Given the description of an element on the screen output the (x, y) to click on. 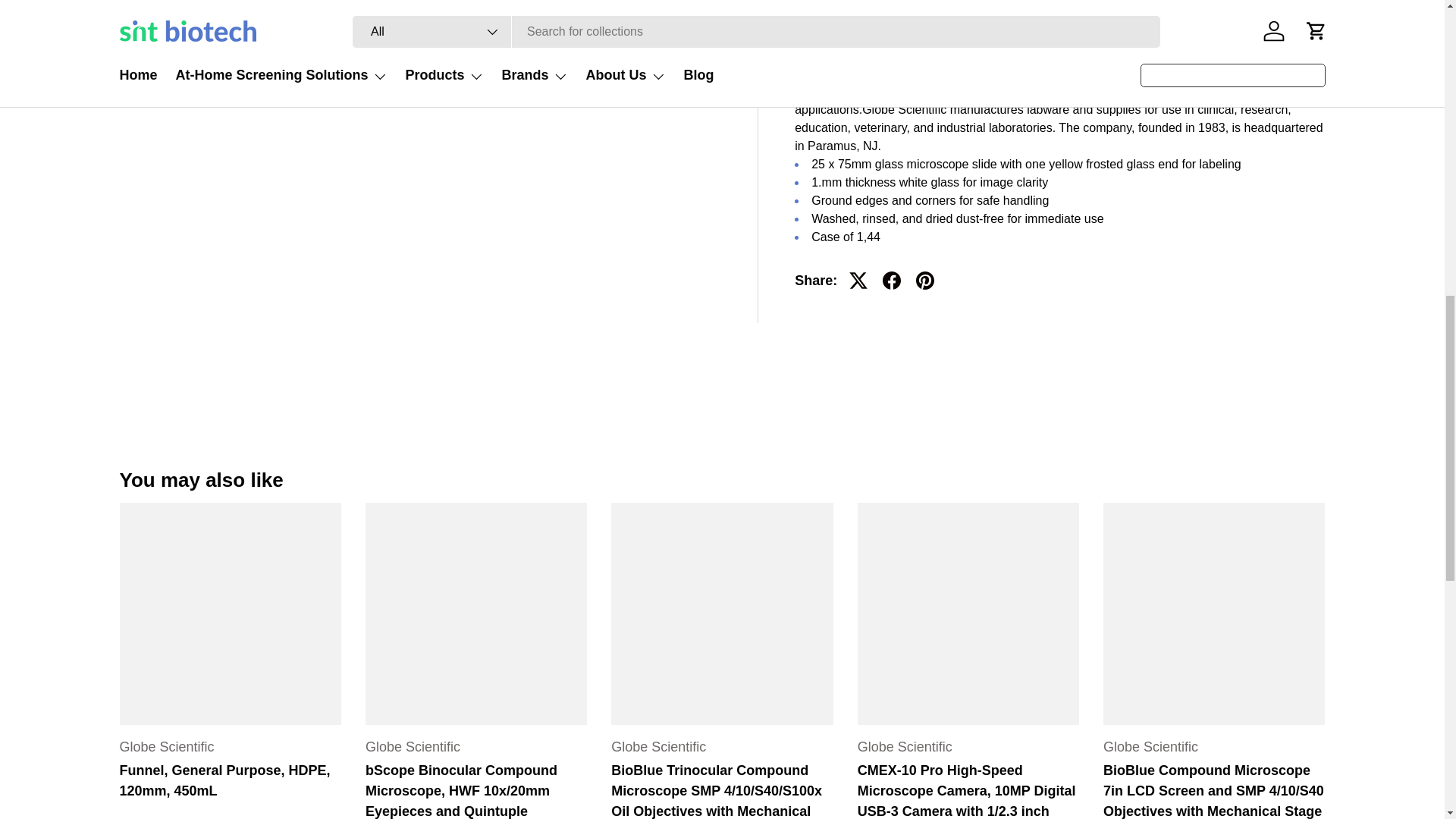
Tweet on X (858, 11)
Share on Facebook (891, 11)
Pin on Pinterest (925, 11)
